Given the description of an element on the screen output the (x, y) to click on. 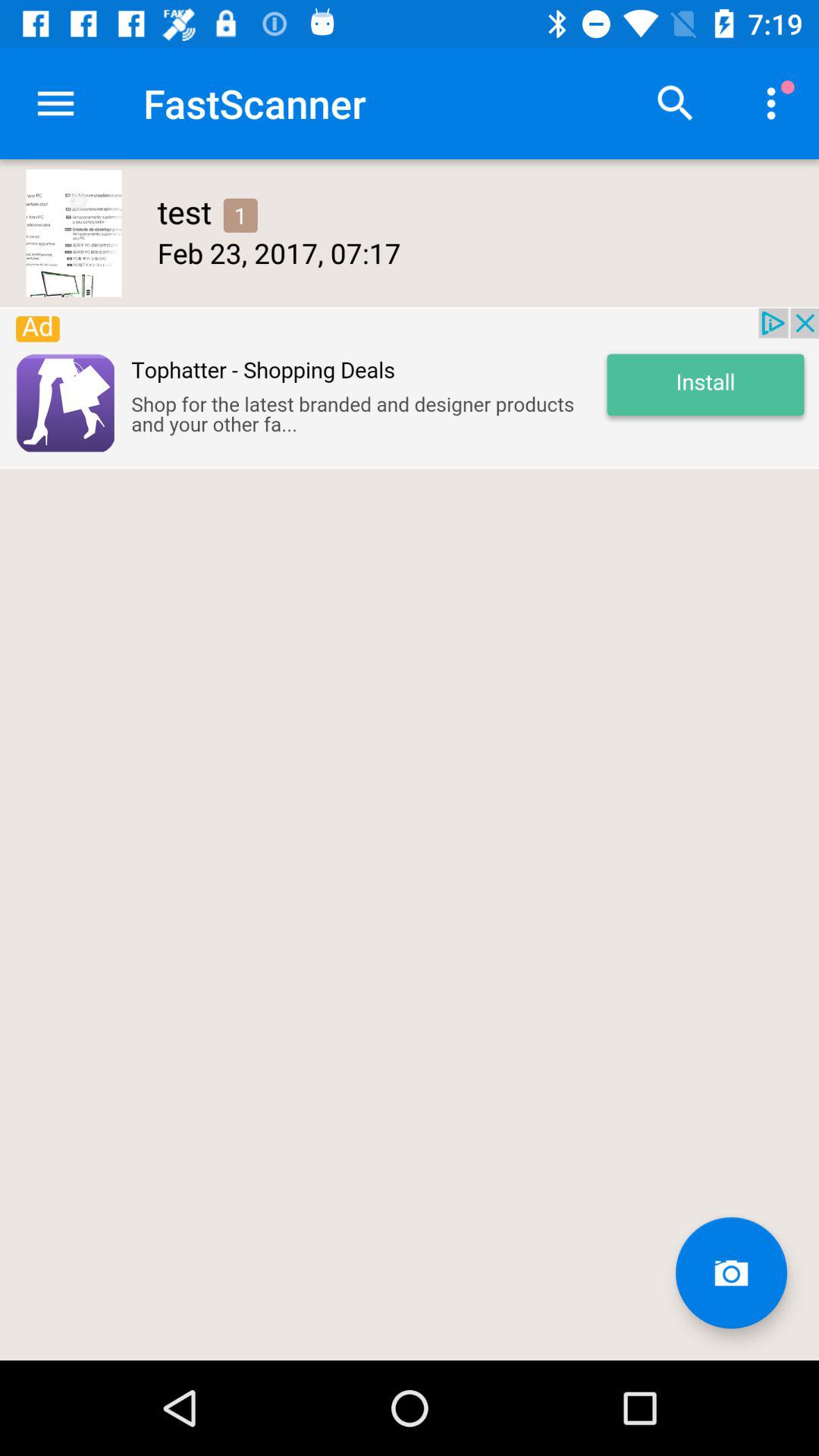
search option (675, 103)
